Given the description of an element on the screen output the (x, y) to click on. 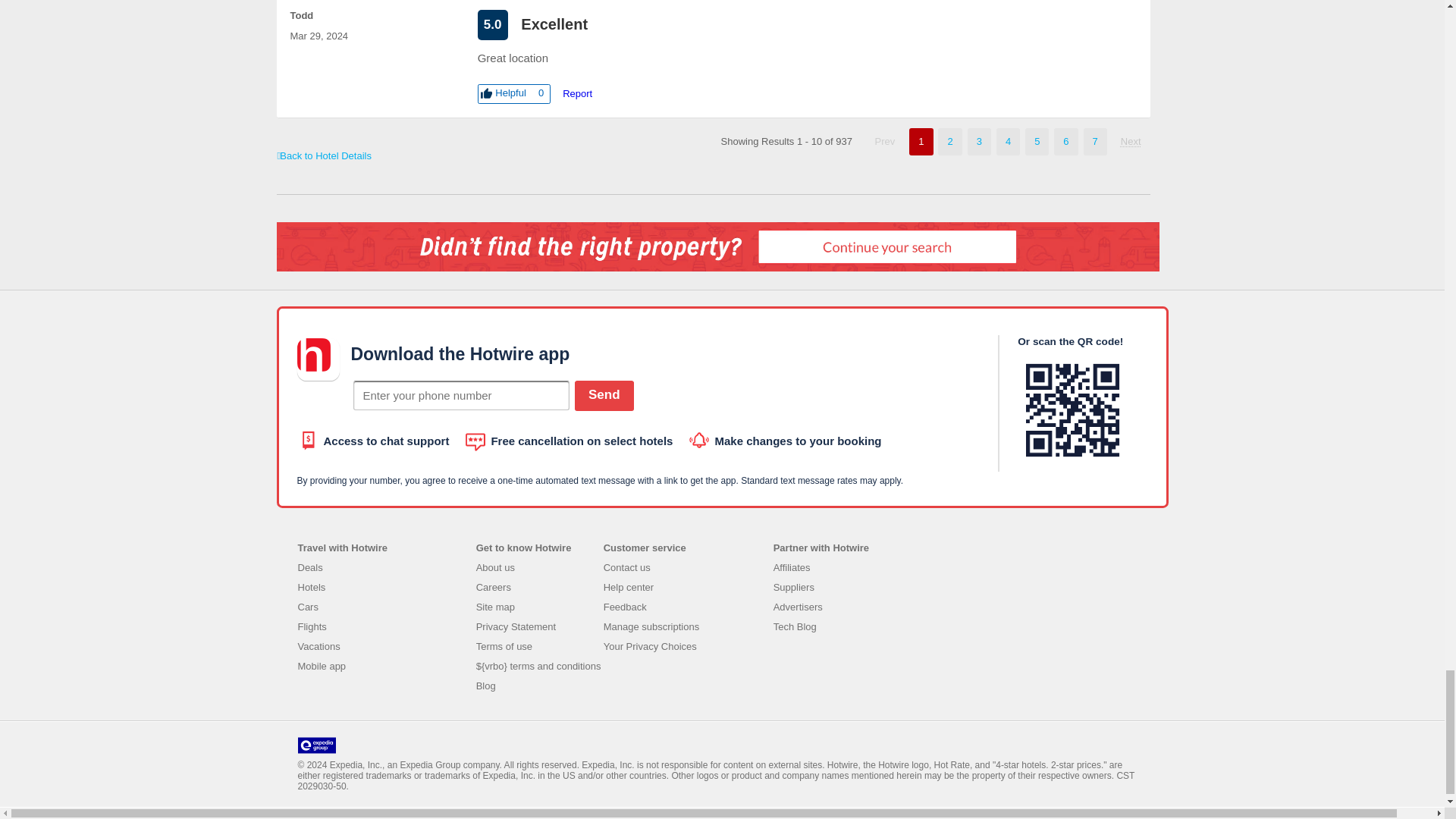
Go to page 2 (1131, 141)
